Given the description of an element on the screen output the (x, y) to click on. 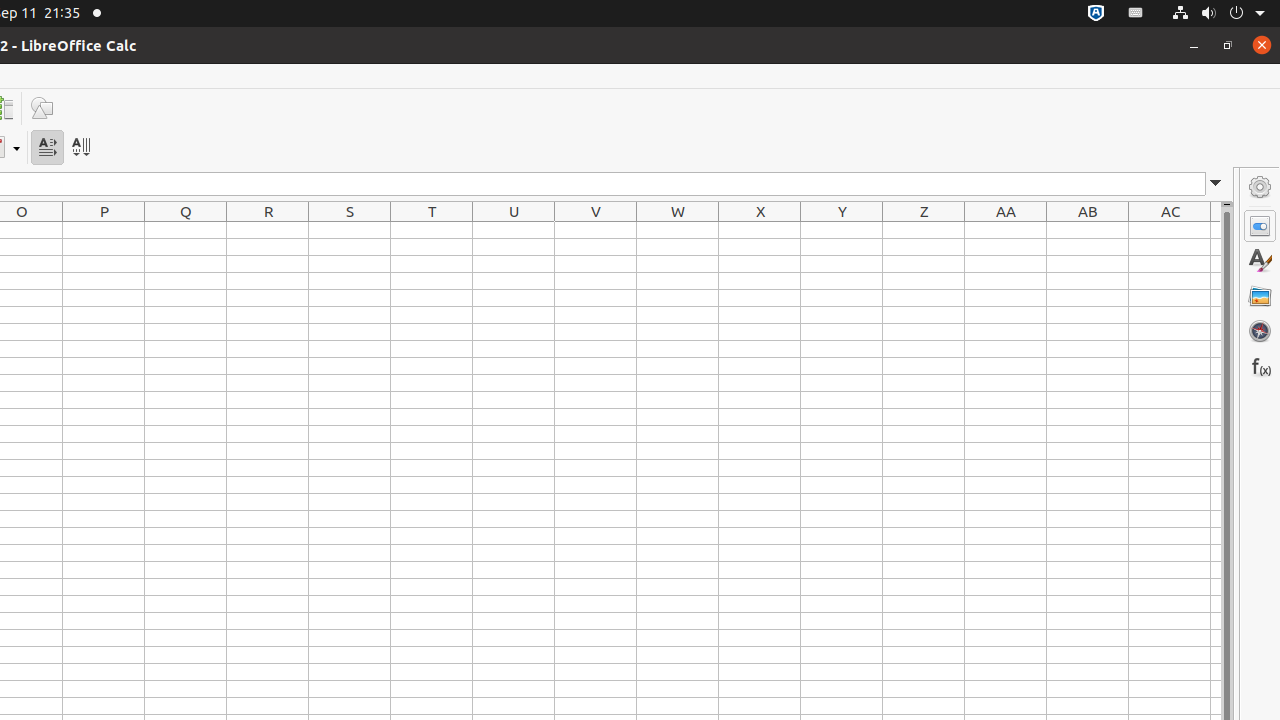
Expand Formula Bar Element type: push-button (1216, 183)
U1 Element type: table-cell (514, 230)
Gallery Element type: radio-button (1260, 296)
T1 Element type: table-cell (432, 230)
Q1 Element type: table-cell (186, 230)
